Given the description of an element on the screen output the (x, y) to click on. 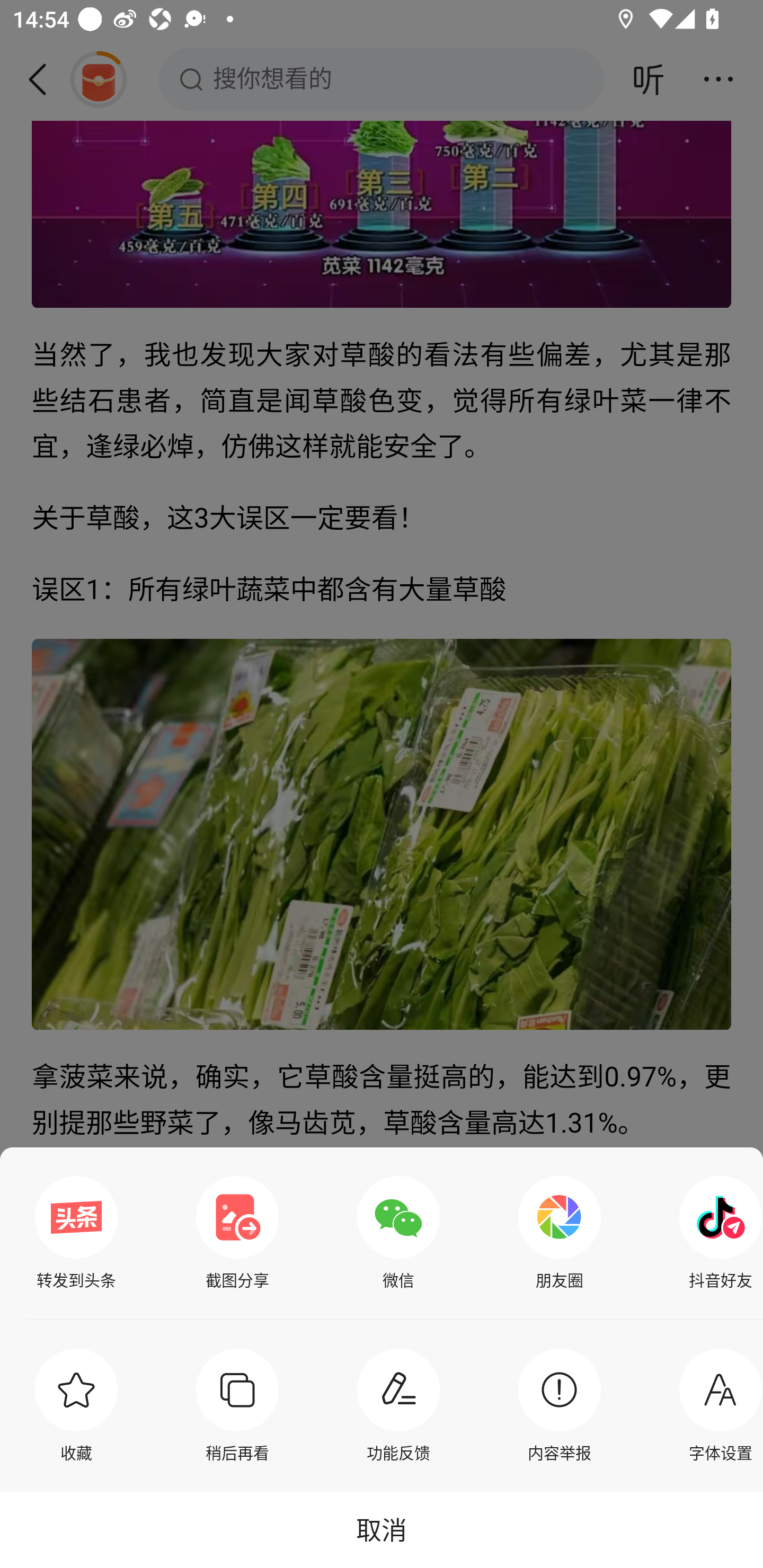
转发到头条 (76, 1232)
截图分享 (237, 1232)
微信 (398, 1232)
朋友圈 (559, 1232)
抖音好友 (716, 1232)
收藏 (76, 1405)
稍后再看 (237, 1405)
功能反馈 (398, 1405)
内容举报 (559, 1405)
字体设置 (716, 1405)
取消 (381, 1529)
